Given the description of an element on the screen output the (x, y) to click on. 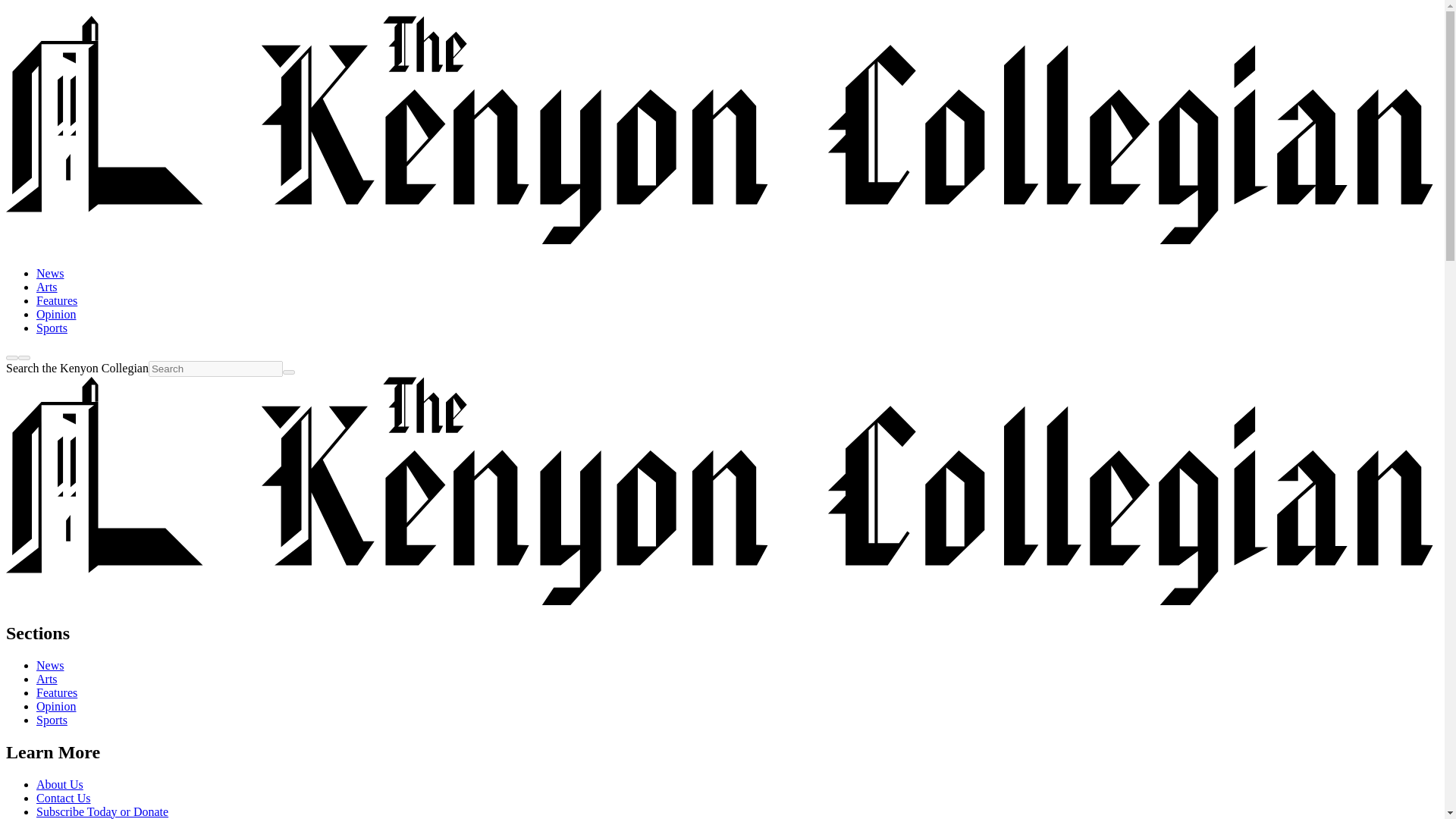
Sports (51, 719)
Opinion (55, 706)
Subscribe Today or Donate (102, 811)
Sports (51, 327)
Arts (47, 678)
Contact Us (63, 797)
News (50, 273)
Features (56, 300)
About Us (59, 784)
Arts (47, 286)
Features (56, 692)
Opinion (55, 314)
News (50, 665)
